Given the description of an element on the screen output the (x, y) to click on. 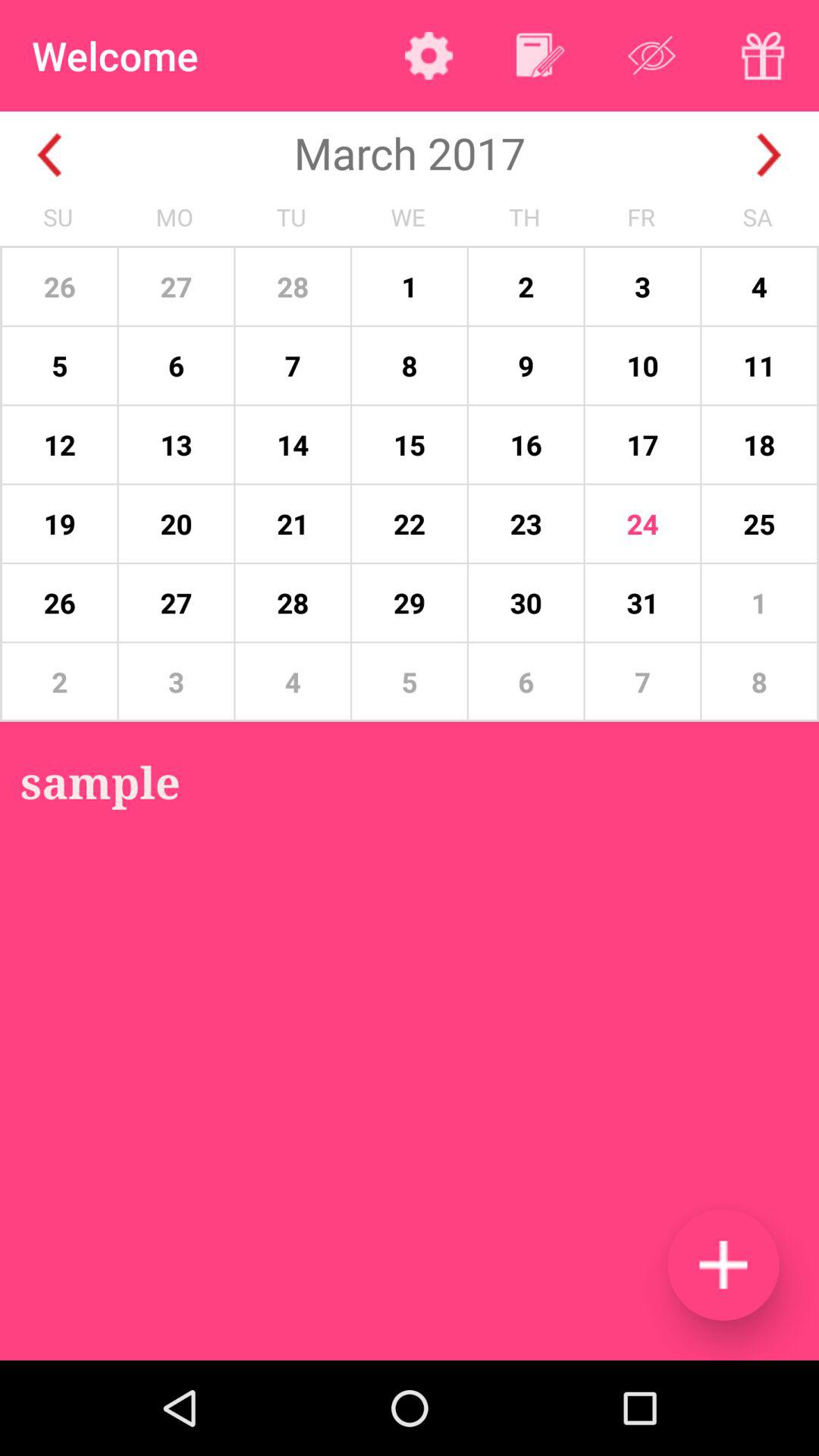
press the item below 7 icon (723, 1264)
